Given the description of an element on the screen output the (x, y) to click on. 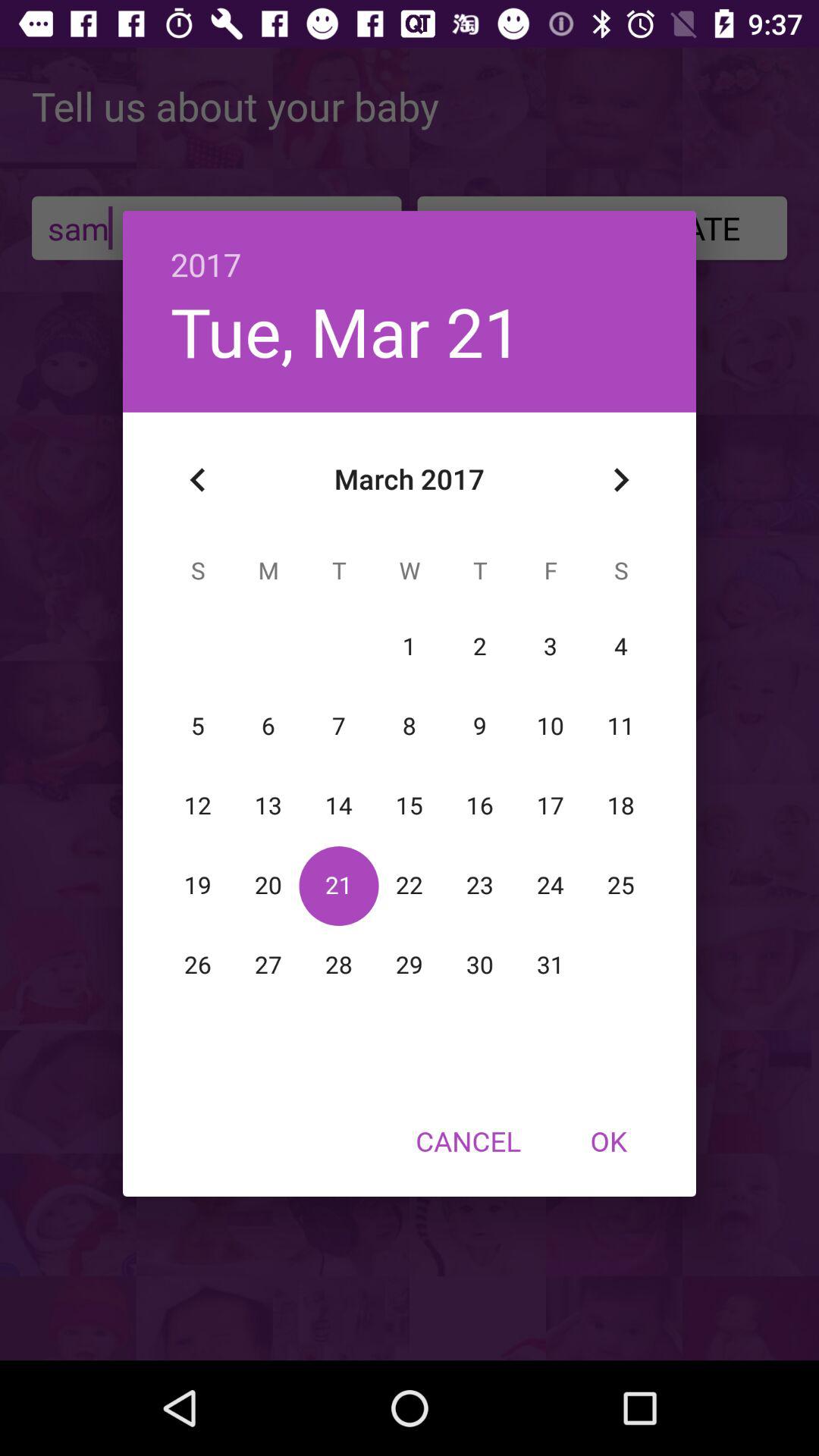
press item next to the cancel (608, 1140)
